Given the description of an element on the screen output the (x, y) to click on. 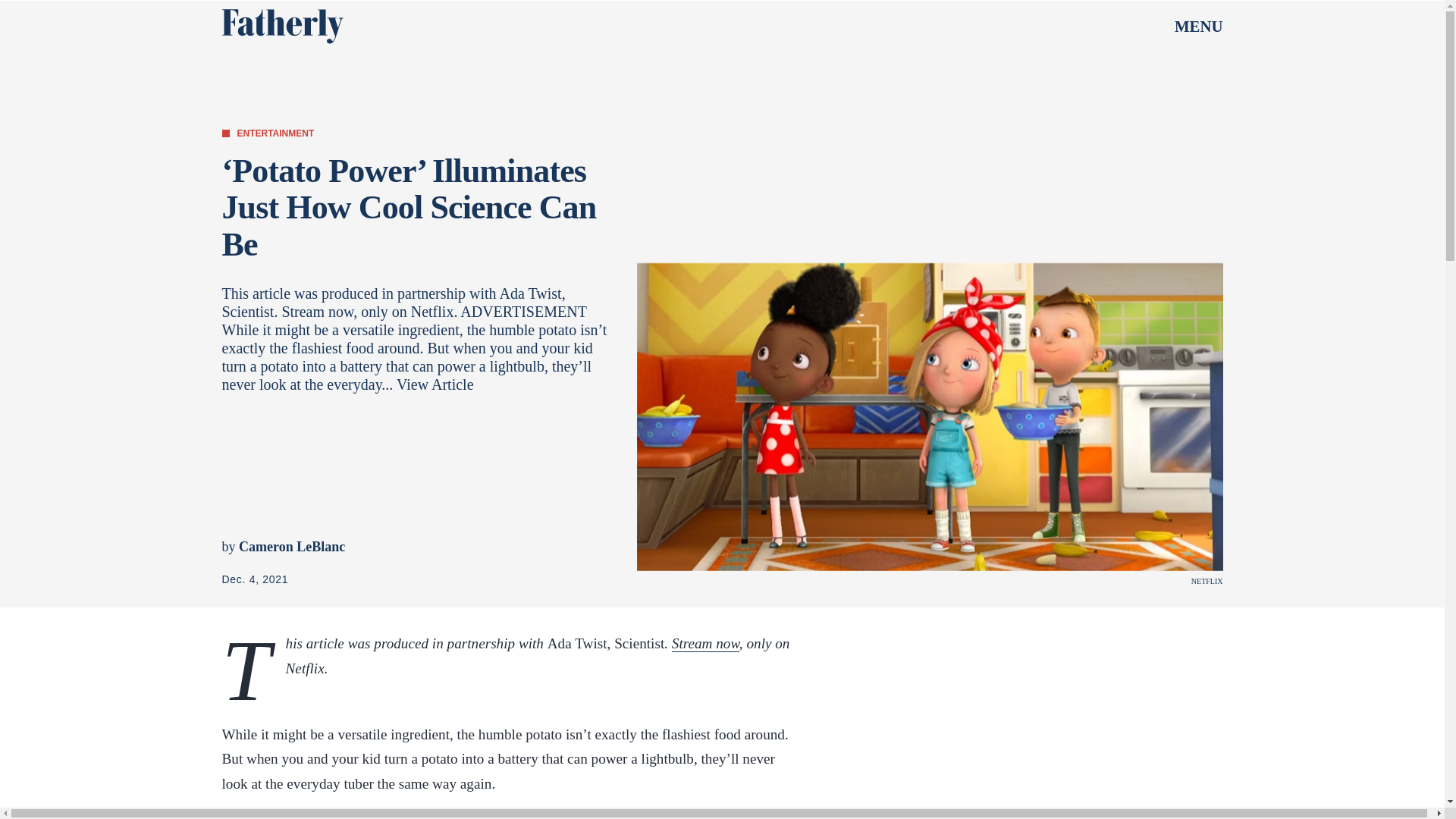
Fatherly (281, 26)
Cameron LeBlanc (291, 546)
Stream now (705, 643)
